Given the description of an element on the screen output the (x, y) to click on. 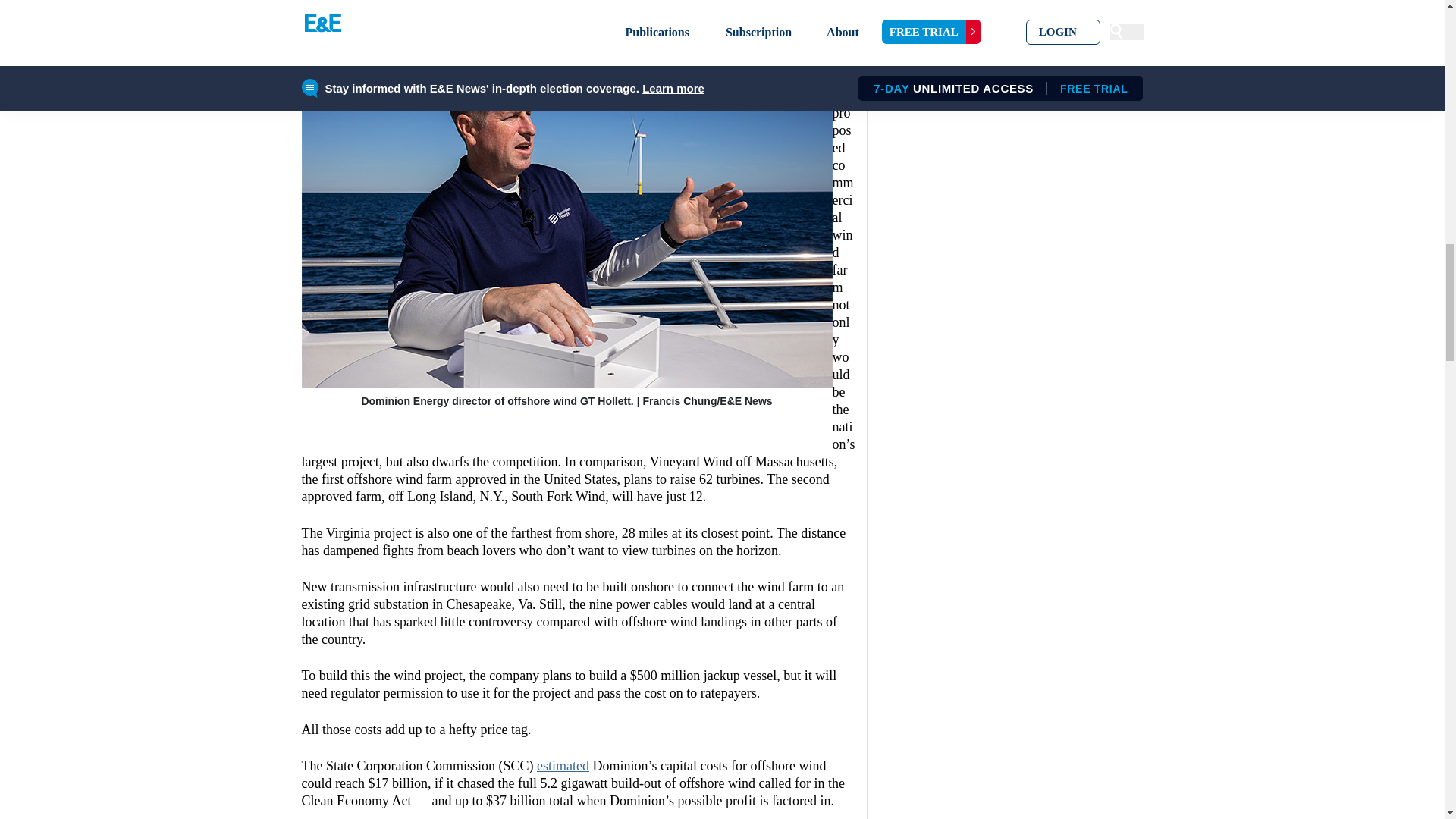
estimated (563, 765)
